Given the description of an element on the screen output the (x, y) to click on. 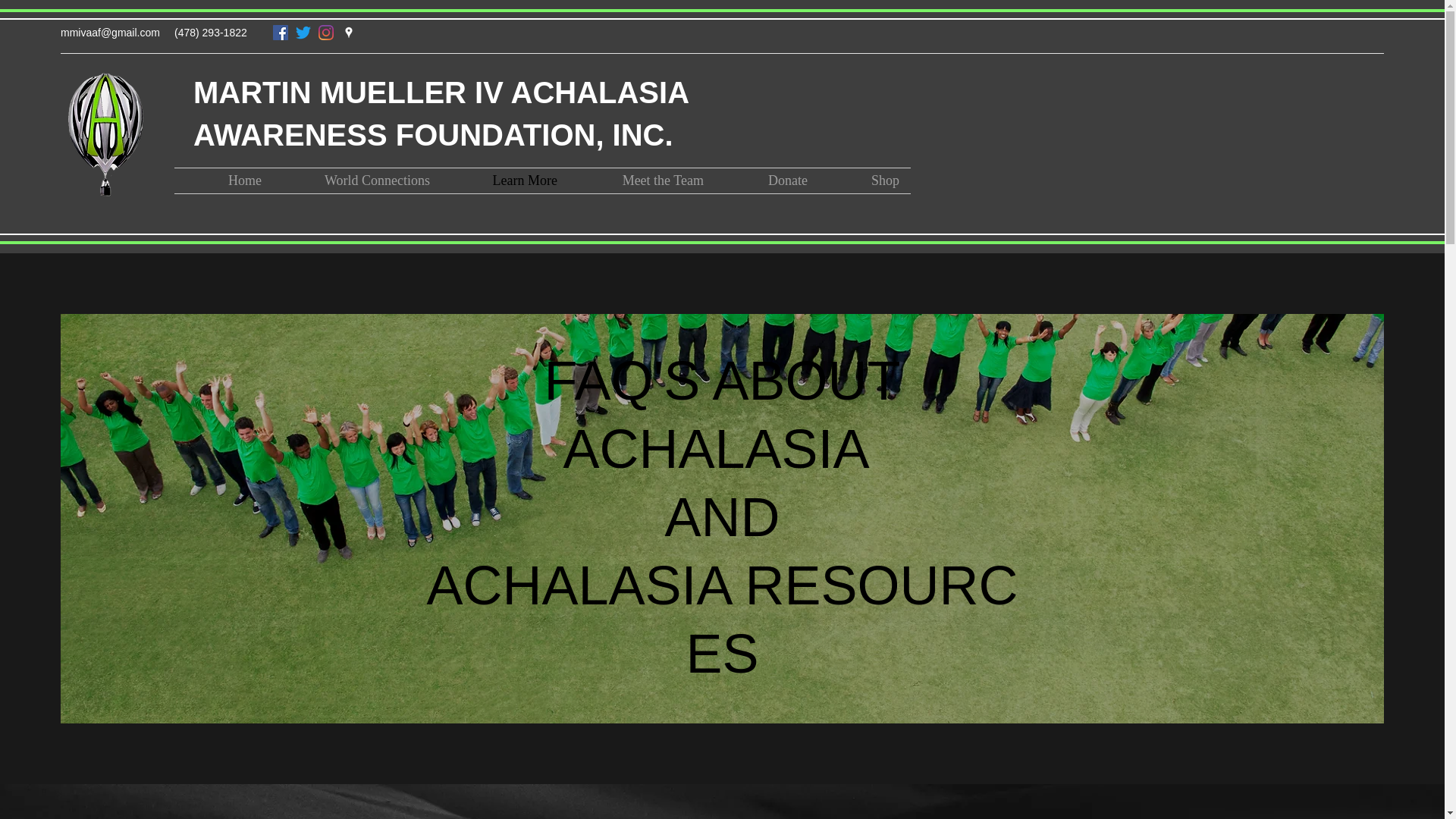
Shop (864, 180)
MARTIN MUELLER IV ACHALASIA AWARENESS FOUNDATION, INC. (440, 113)
World Connections (357, 180)
Donate (766, 180)
Learn More (505, 180)
Home (223, 180)
Meet the Team (641, 180)
